Given the description of an element on the screen output the (x, y) to click on. 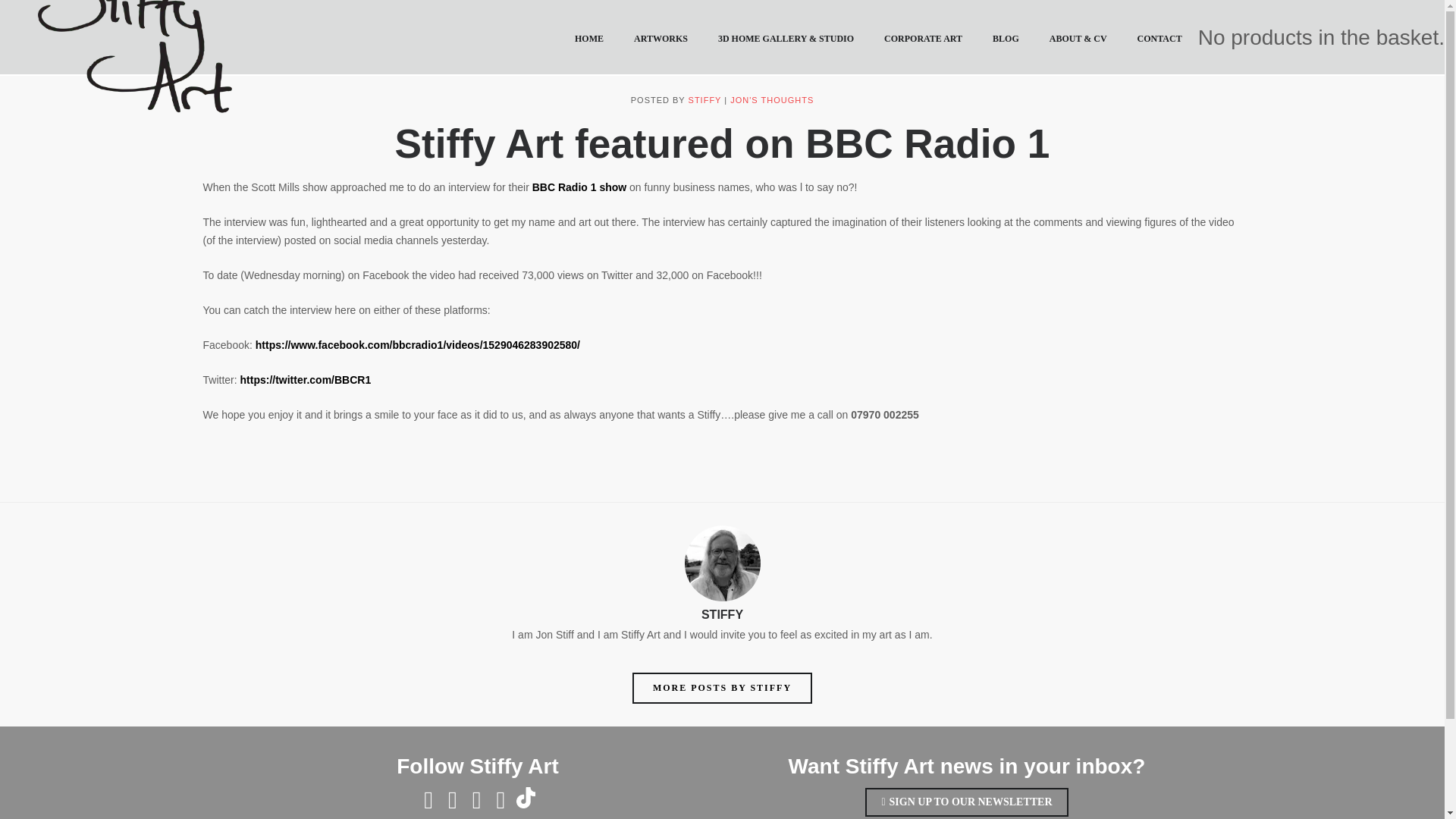
CORPORATE ART (922, 38)
tiktok-white-icon (525, 797)
ARTWORKS (660, 38)
Posts by Stiffy (705, 99)
Stiffy Art (134, 56)
CONTACT (1159, 38)
